Given the description of an element on the screen output the (x, y) to click on. 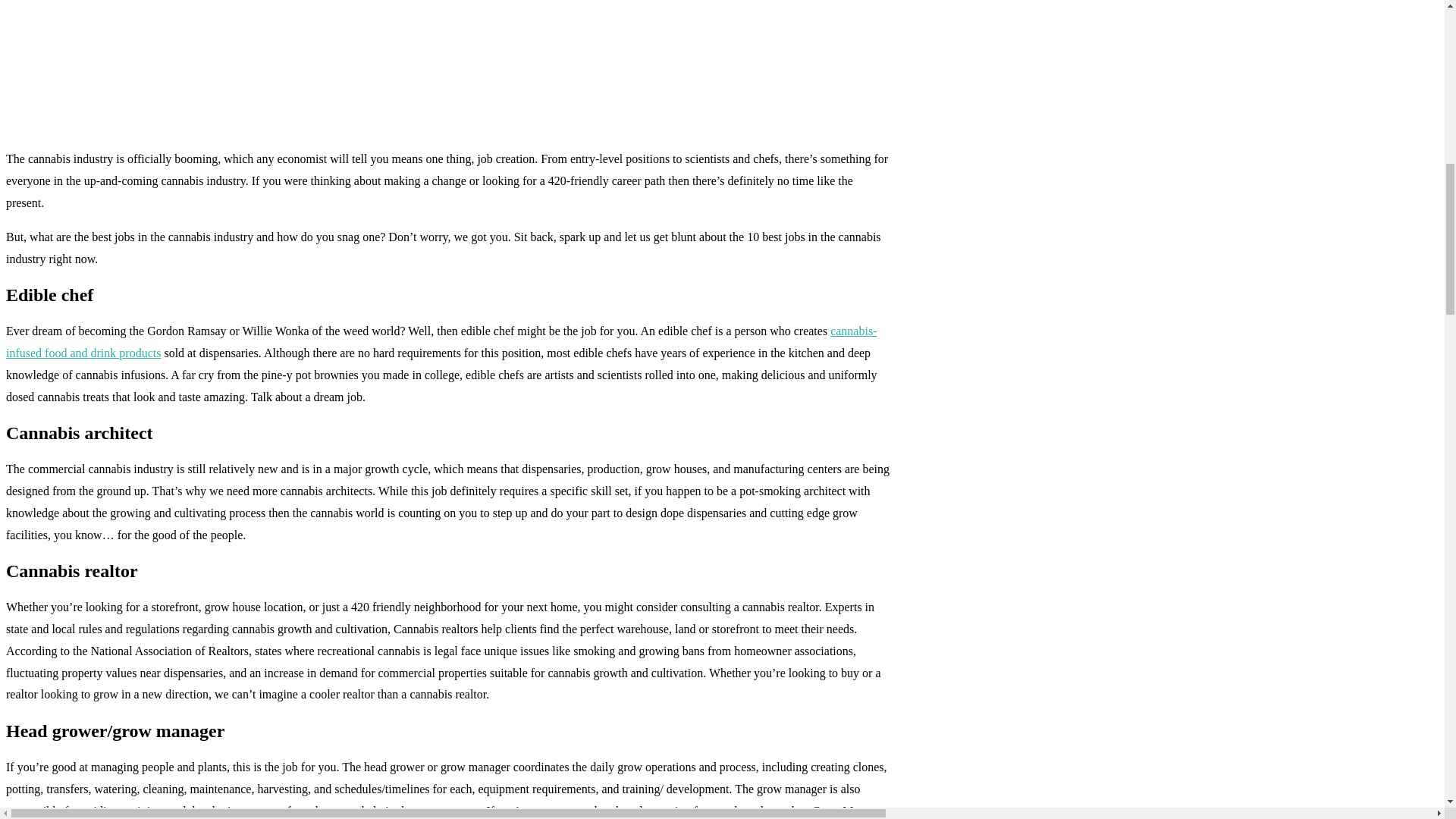
cannabis-infused food and drink products (440, 341)
